Given the description of an element on the screen output the (x, y) to click on. 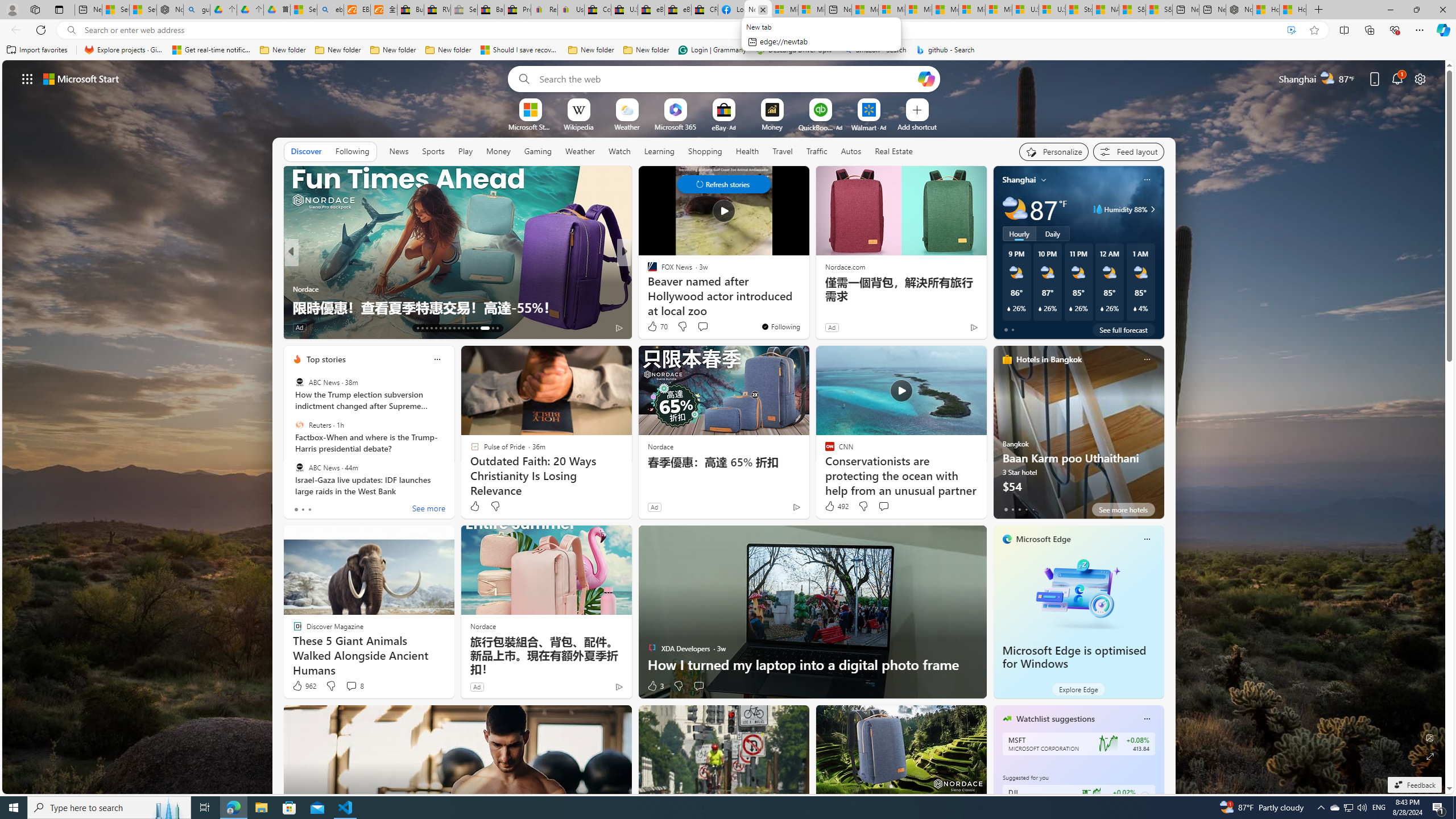
hotels-header-icon (1006, 358)
AutomationID: tab-13 (417, 328)
tab-3 (1025, 509)
AutomationID: tab-35 (497, 328)
Humidity 88% (1150, 208)
User Privacy Notice | eBay (571, 9)
Feedback (1414, 784)
3 Like (655, 685)
Play (465, 151)
